Given the description of an element on the screen output the (x, y) to click on. 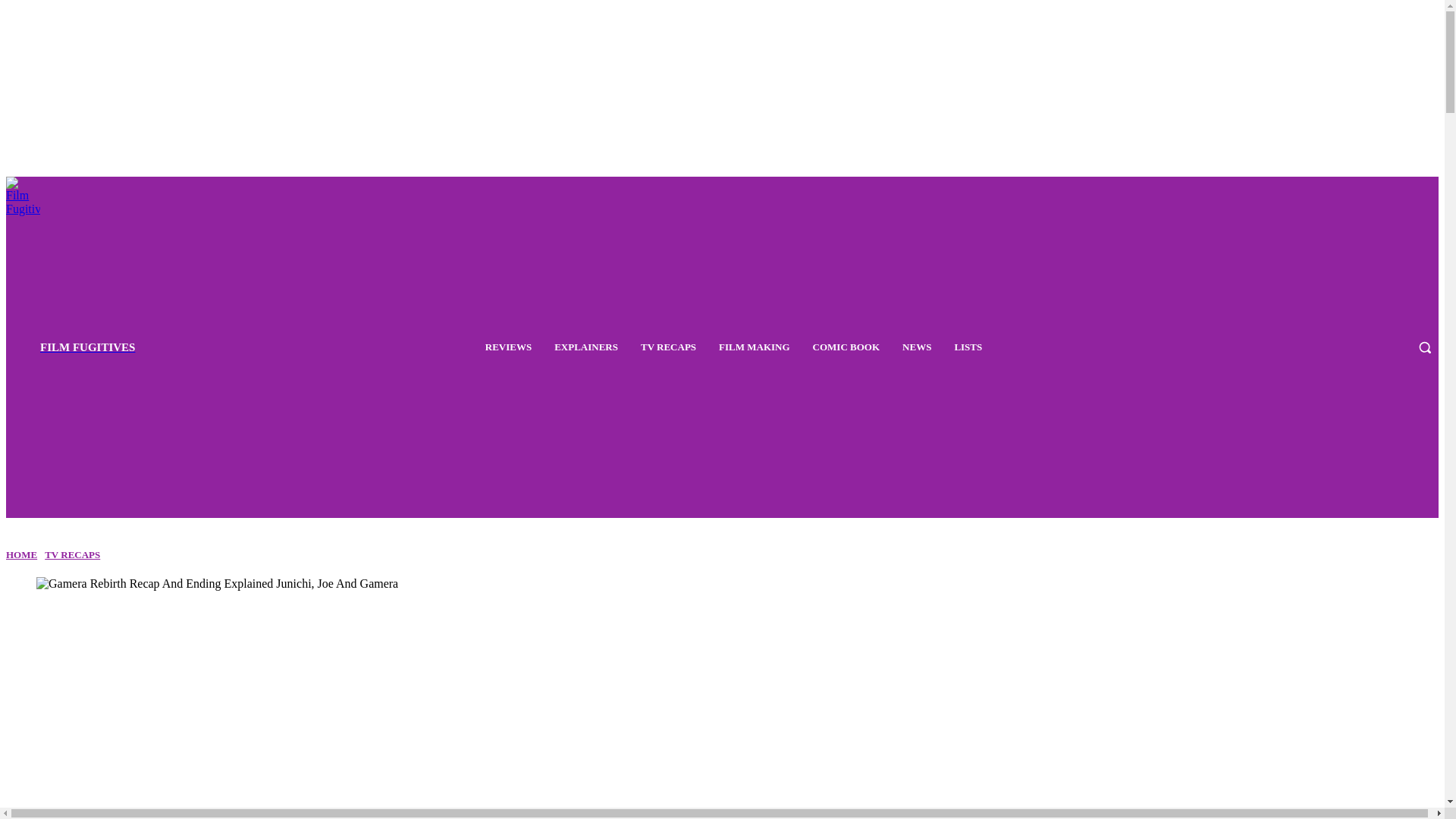
FILM MAKING (754, 346)
LISTS (968, 346)
TV RECAPS (72, 554)
EXPLAINERS (586, 346)
COMIC BOOK (845, 346)
TV RECAPS (668, 346)
NEWS (917, 346)
REVIEWS (507, 346)
HOME (21, 554)
Facebook (1333, 346)
